Given the description of an element on the screen output the (x, y) to click on. 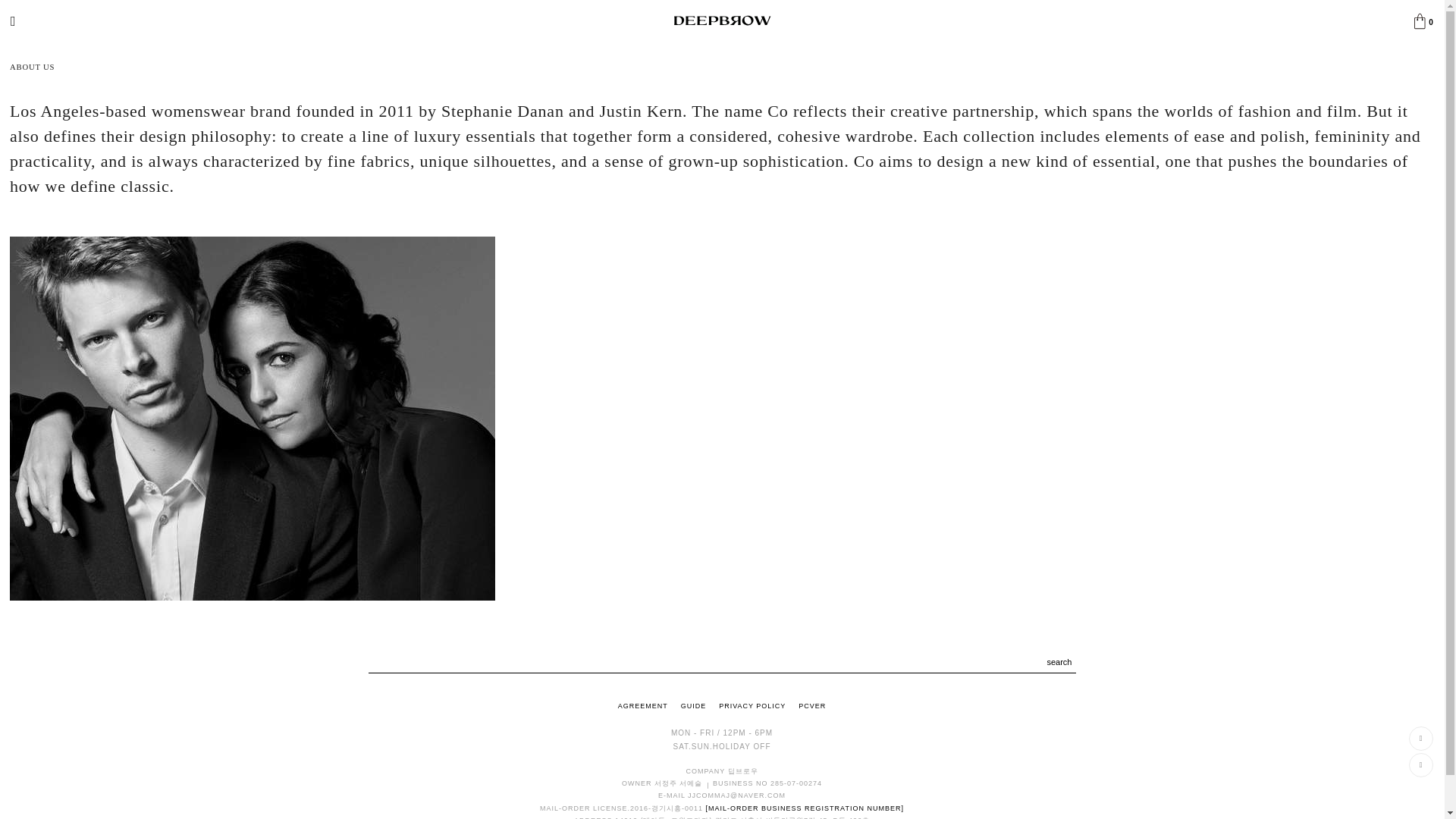
PCVER (811, 705)
search (1058, 661)
0 (1418, 19)
GUIDE (693, 705)
AGREEMENT (642, 705)
PRIVACY POLICY (752, 705)
